Given the description of an element on the screen output the (x, y) to click on. 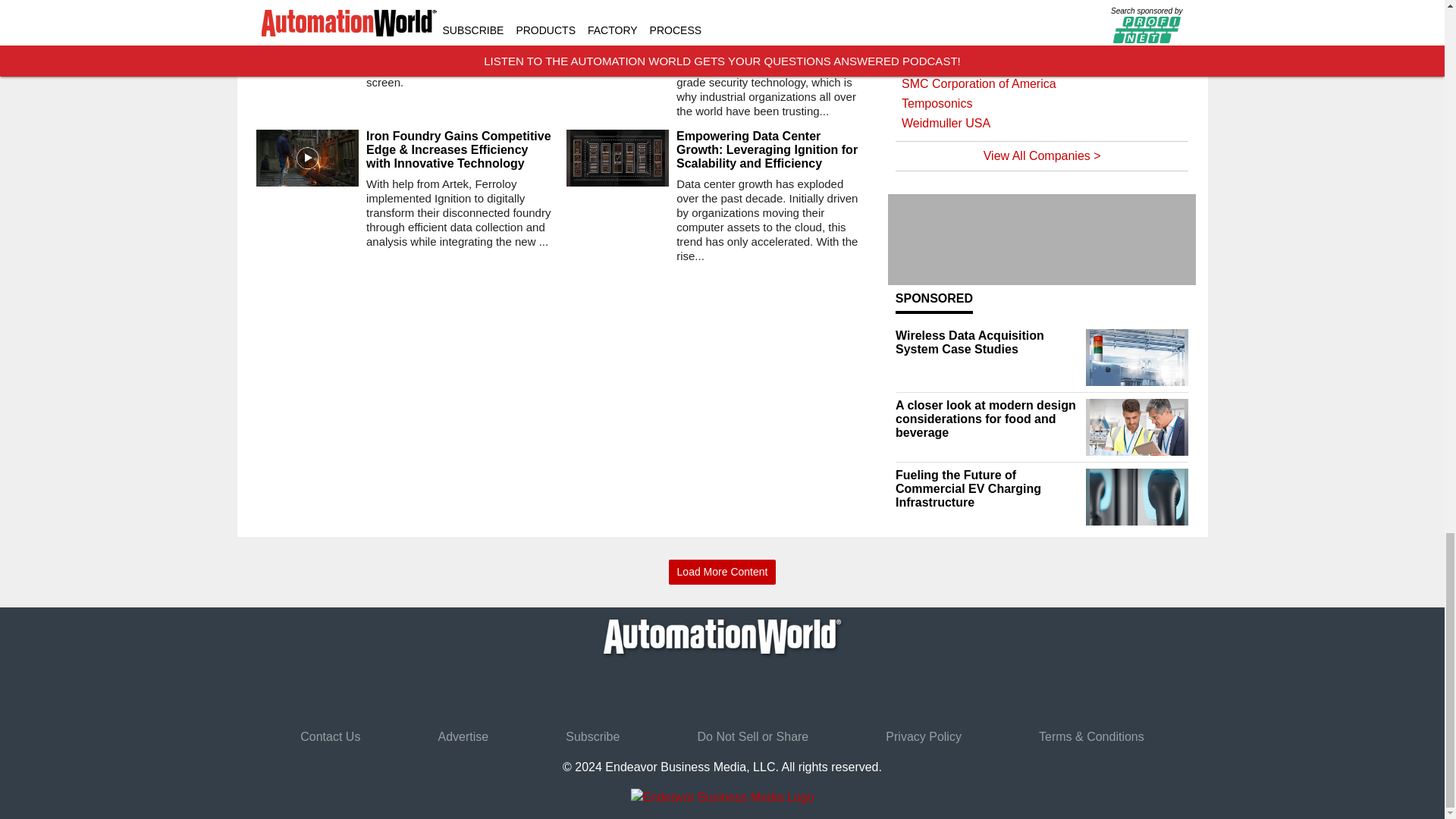
Put the Plant Floor in Your Pocket with Ignition Perspective (459, 26)
Ignition: Industrial-Strength System Security and Stability (770, 26)
